Given the description of an element on the screen output the (x, y) to click on. 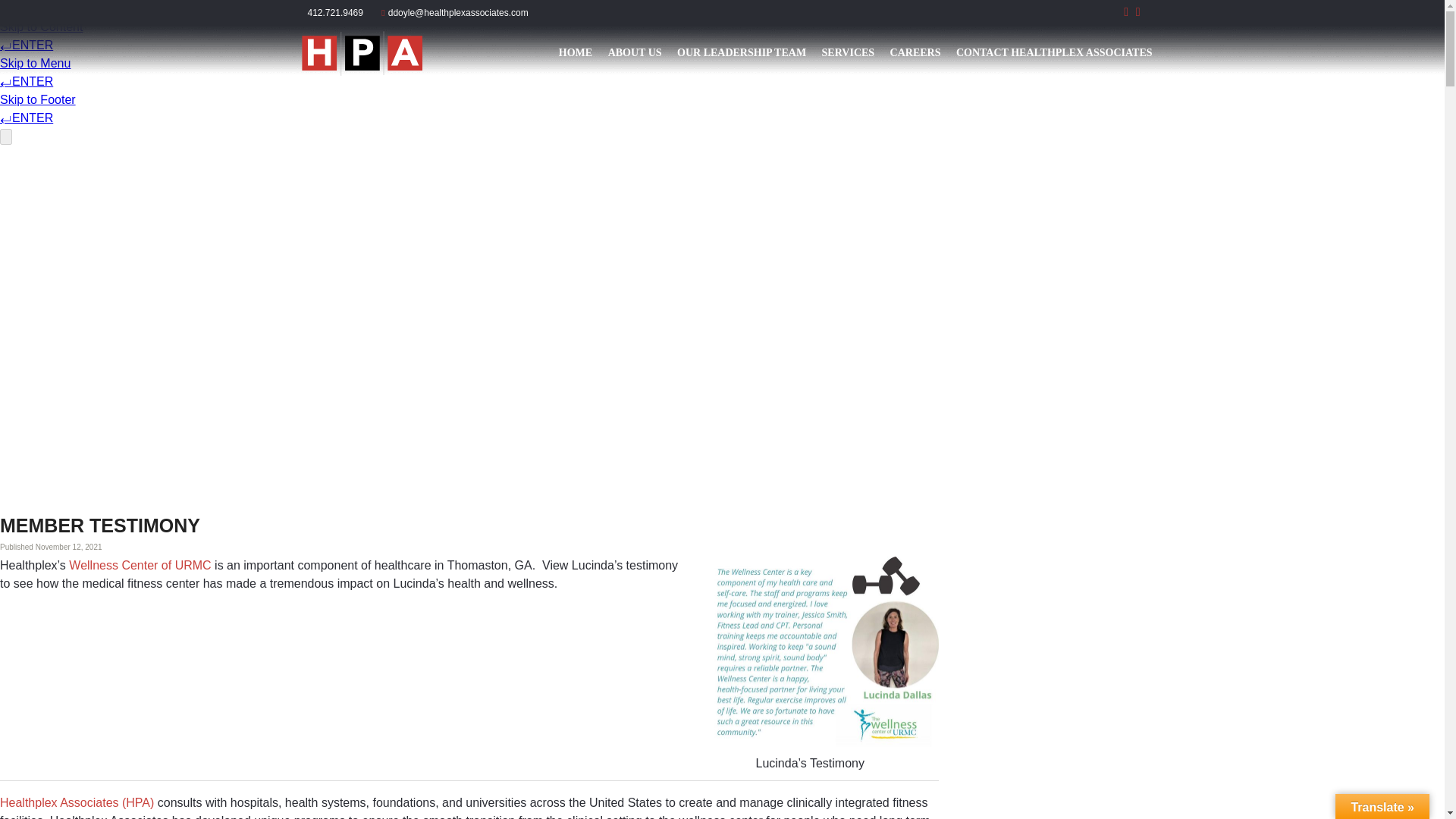
ABOUT US (635, 52)
Permalink to Member Testimony (100, 525)
HOME (575, 52)
OUR LEADERSHIP TEAM (741, 52)
MEMBER TESTIMONY (100, 525)
Wellness Center of URMC (139, 564)
CONTACT HEALTHPLEX ASSOCIATES (1054, 52)
CAREERS (915, 52)
SERVICES (847, 52)
412.721.9469 (341, 12)
